Given the description of an element on the screen output the (x, y) to click on. 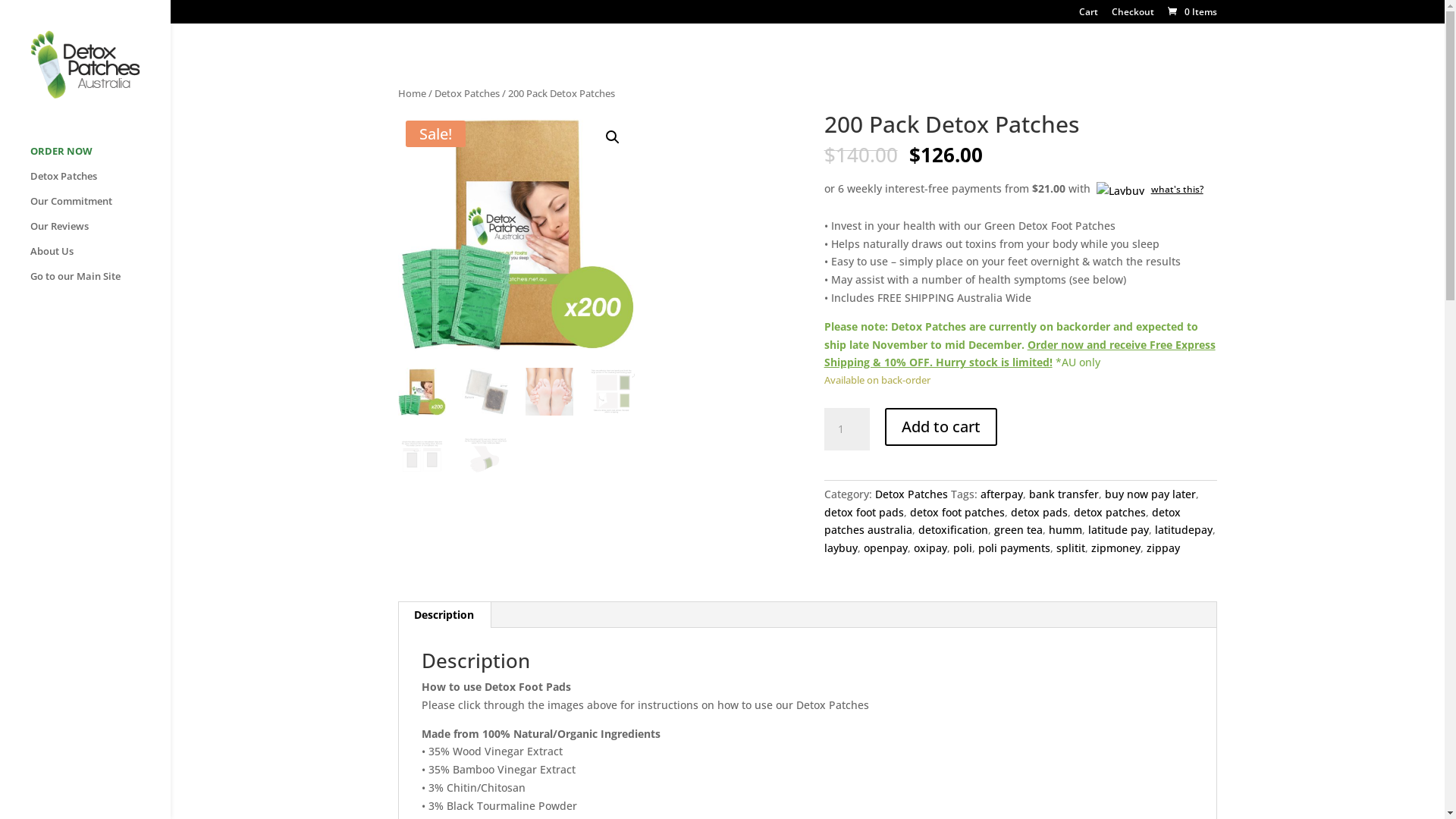
ORDER NOW Element type: text (100, 157)
poli Element type: text (962, 547)
Go to our Main Site Element type: text (100, 282)
detox patches australia Element type: text (1002, 521)
Our Reviews Element type: text (100, 232)
bank transfer Element type: text (1063, 493)
Cart Element type: text (1088, 15)
splitit Element type: text (1070, 547)
what's this? Element type: text (1148, 188)
Description Element type: text (443, 614)
openpay Element type: text (885, 547)
Detox Patches Element type: text (911, 493)
green tea Element type: text (1018, 529)
detox patches Element type: text (1109, 512)
buy now pay later Element type: text (1149, 493)
zippay Element type: text (1162, 547)
Checkout Element type: text (1132, 15)
humm Element type: text (1065, 529)
afterpay Element type: text (1001, 493)
detox foot pads Element type: text (863, 512)
0 Items Element type: text (1191, 11)
zipmoney Element type: text (1115, 547)
Detox Patches Element type: text (100, 182)
Detox Patches Element type: text (466, 93)
Home Element type: text (412, 93)
latitudepay Element type: text (1183, 529)
oxipay Element type: text (930, 547)
200-Detox-Patches.jpg Element type: hover (517, 231)
poli payments Element type: text (1014, 547)
latitude pay Element type: text (1118, 529)
Our Commitment Element type: text (100, 207)
About Us Element type: text (100, 257)
Add to cart Element type: text (940, 426)
detox pads Element type: text (1038, 512)
laybuy Element type: text (840, 547)
detoxification Element type: text (953, 529)
detox foot patches Element type: text (957, 512)
